Given the description of an element on the screen output the (x, y) to click on. 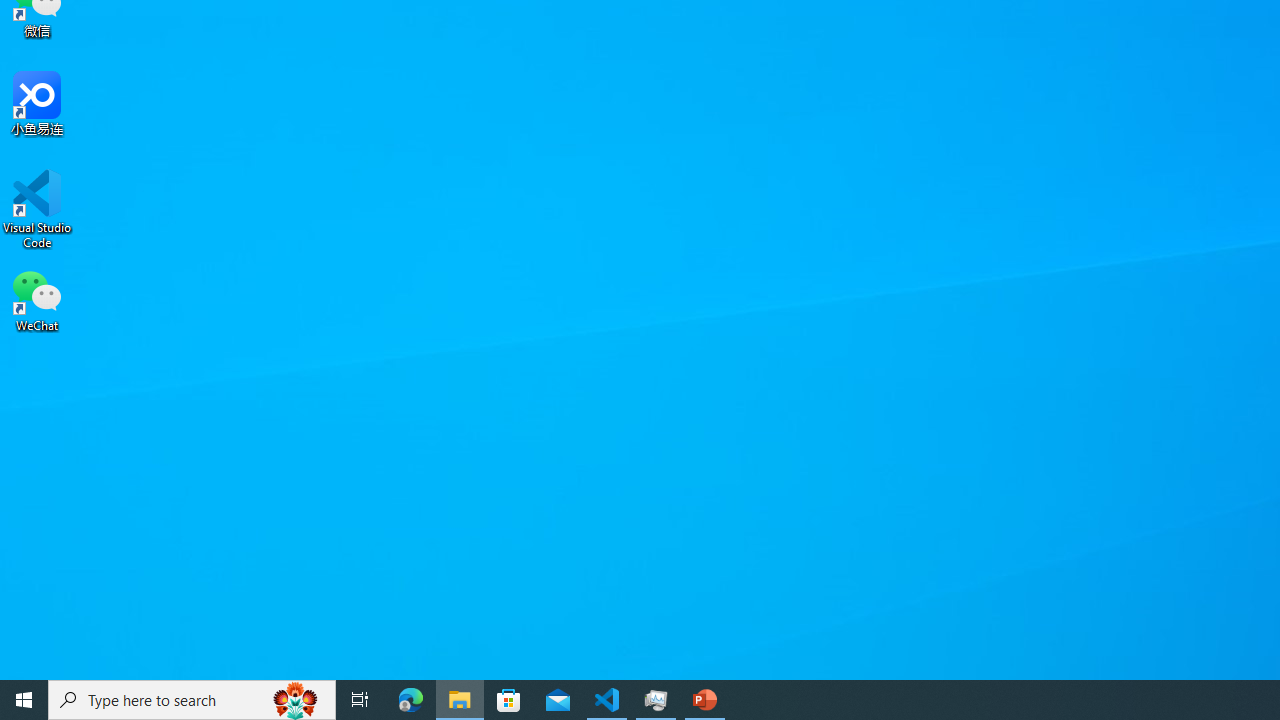
WeChat (37, 299)
Task Manager - 1 running window (656, 699)
Visual Studio Code (37, 209)
File Explorer - 1 running window (460, 699)
Microsoft Edge (411, 699)
